Given the description of an element on the screen output the (x, y) to click on. 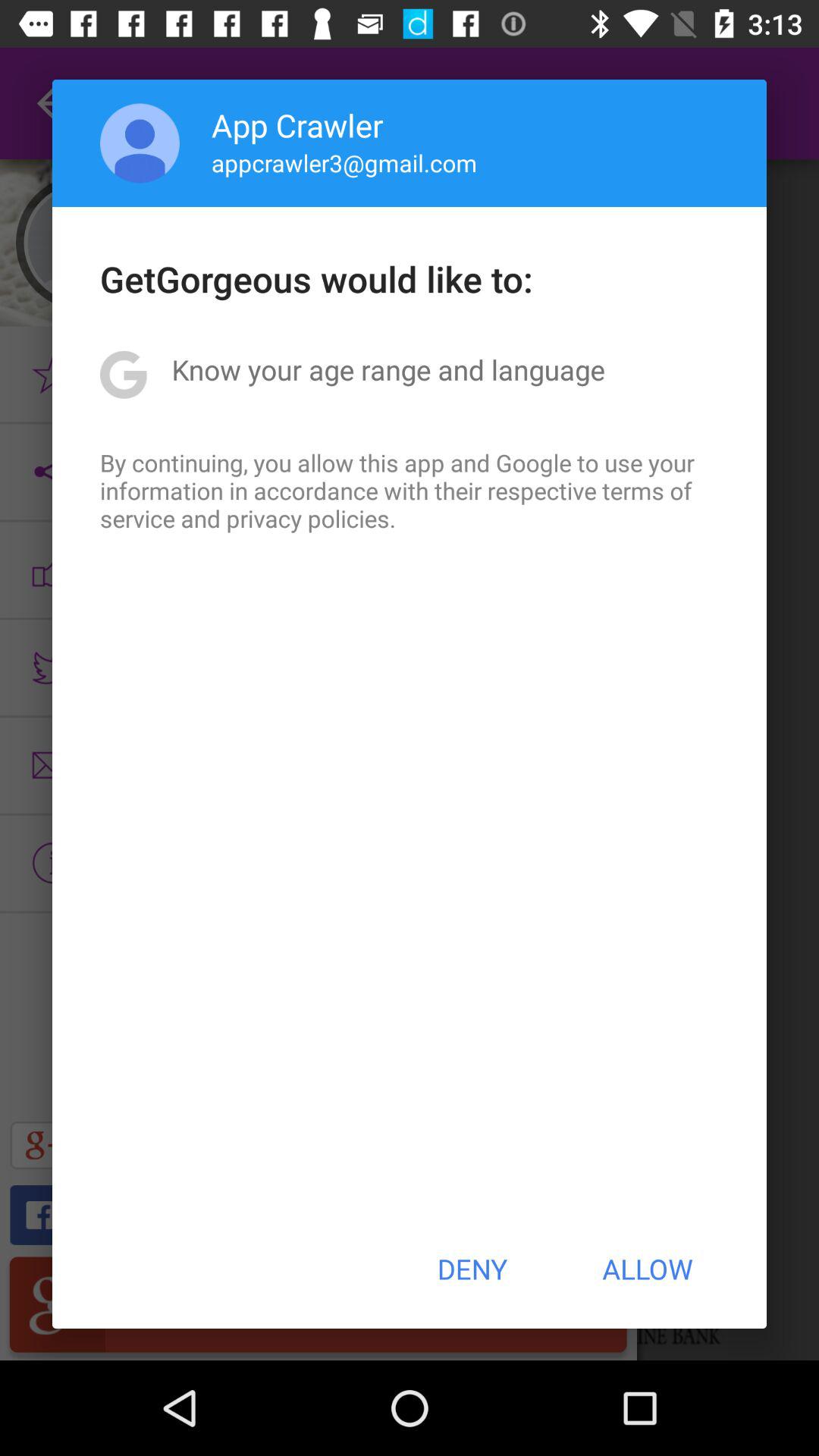
open item above the getgorgeous would like (139, 143)
